Given the description of an element on the screen output the (x, y) to click on. 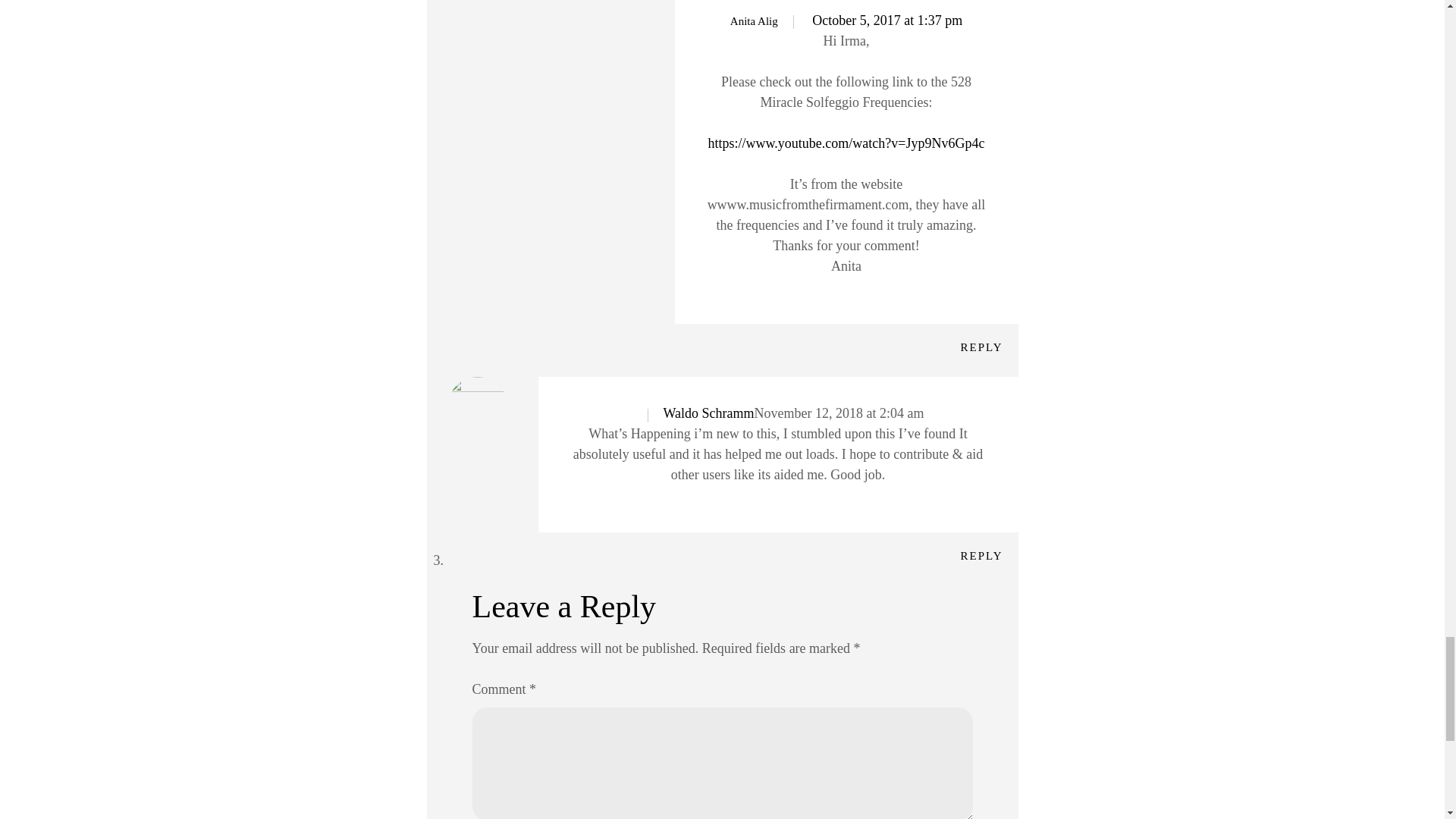
Anita Alig October 5, 2017 at 1:37 pm (846, 20)
Waldo Schramm (708, 412)
REPLY (981, 555)
REPLY (981, 346)
